Given the description of an element on the screen output the (x, y) to click on. 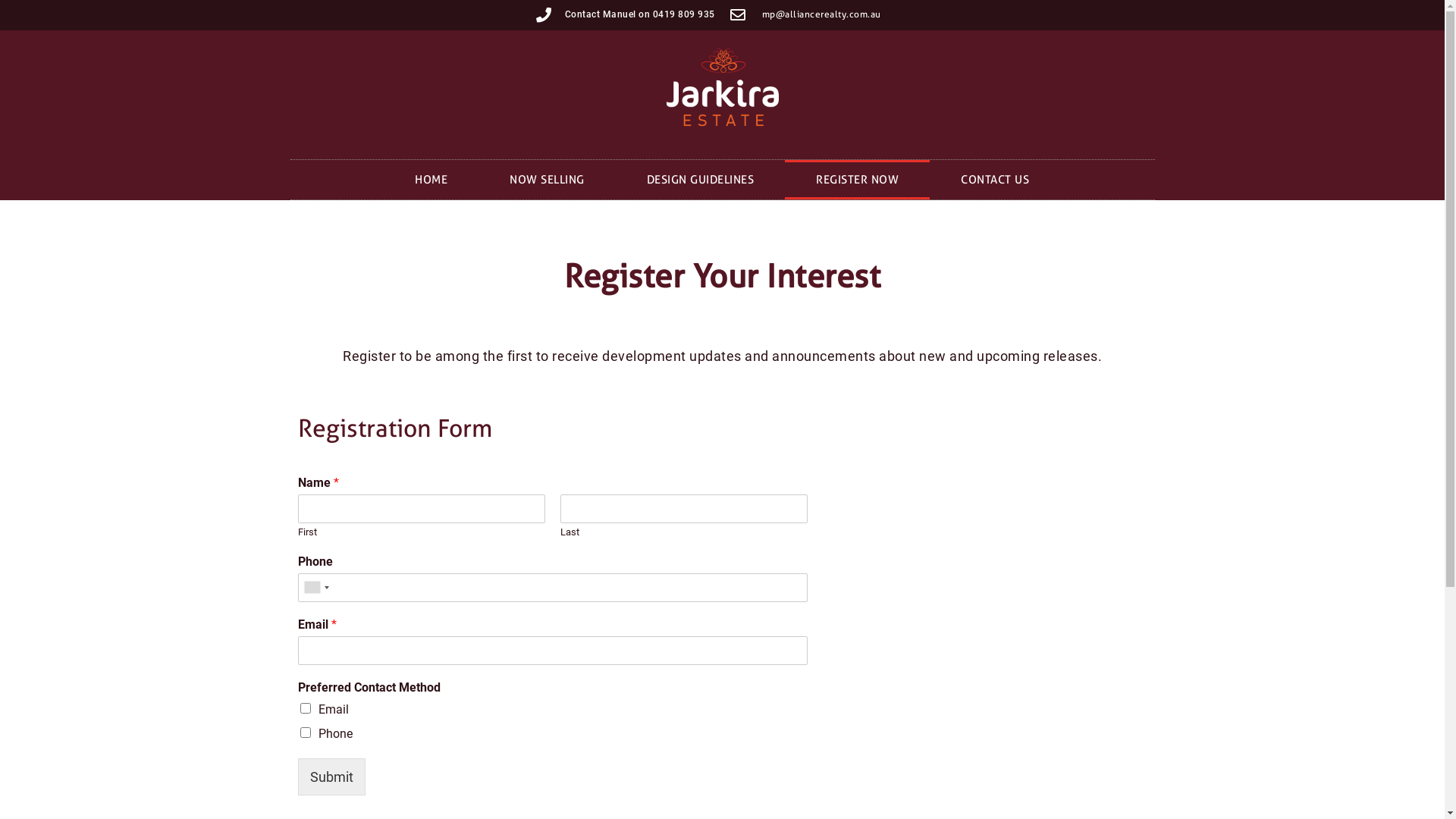
mp@alliancerealty.com.au Element type: text (937, 14)
DESIGN GUIDELINES Element type: text (700, 179)
NOW SELLING Element type: text (546, 179)
Submit Element type: text (330, 776)
HOME Element type: text (430, 179)
REGISTER NOW Element type: text (856, 179)
CONTACT US Element type: text (994, 179)
